Given the description of an element on the screen output the (x, y) to click on. 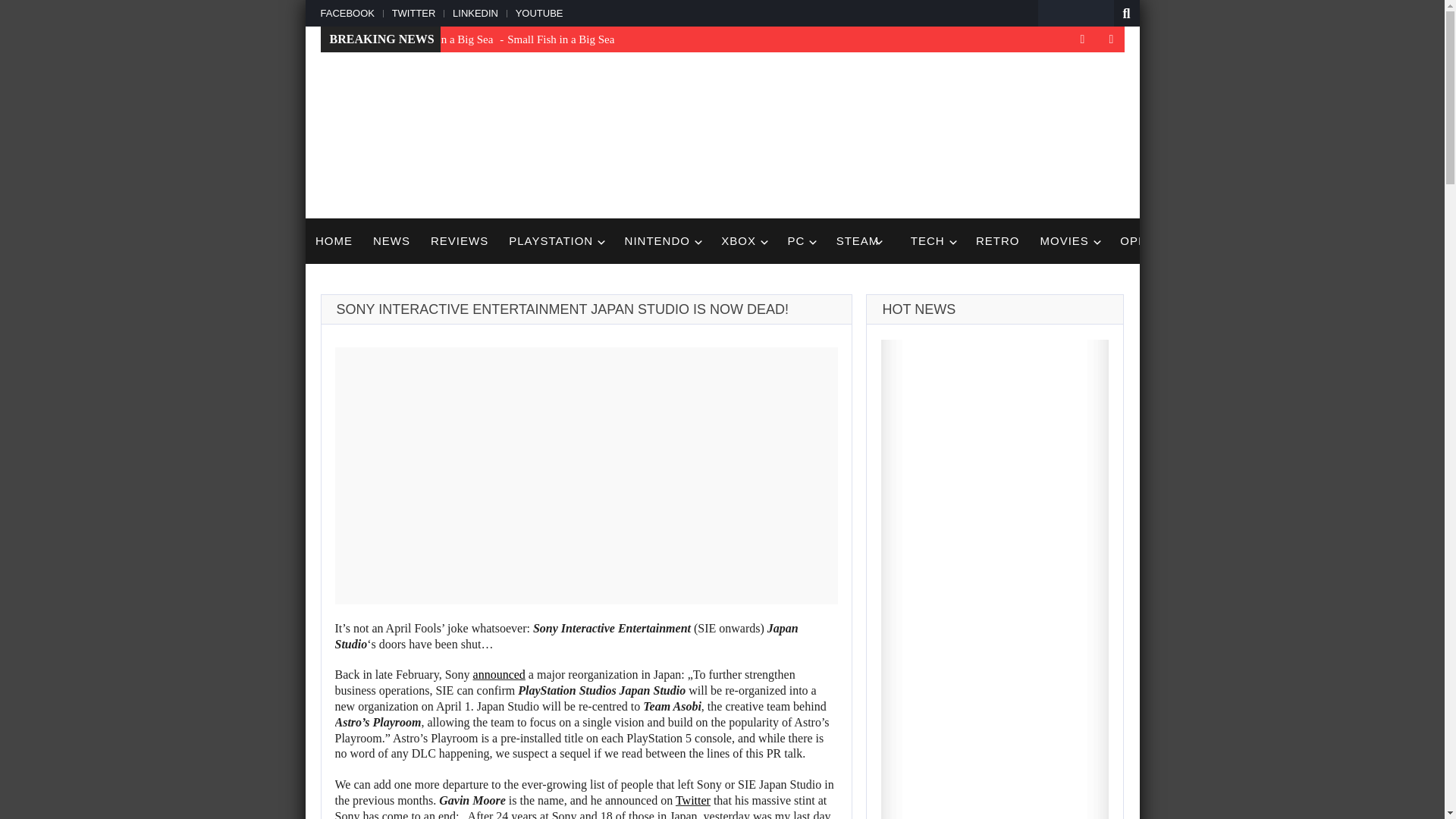
TWITTER (411, 12)
YOUTUBE (537, 12)
FACEBOOK (350, 12)
Sony Interactive Entertainment Japan Studio Is Now Dead! (586, 475)
Advertisement (848, 133)
LINKEDIN (473, 12)
